Given the description of an element on the screen output the (x, y) to click on. 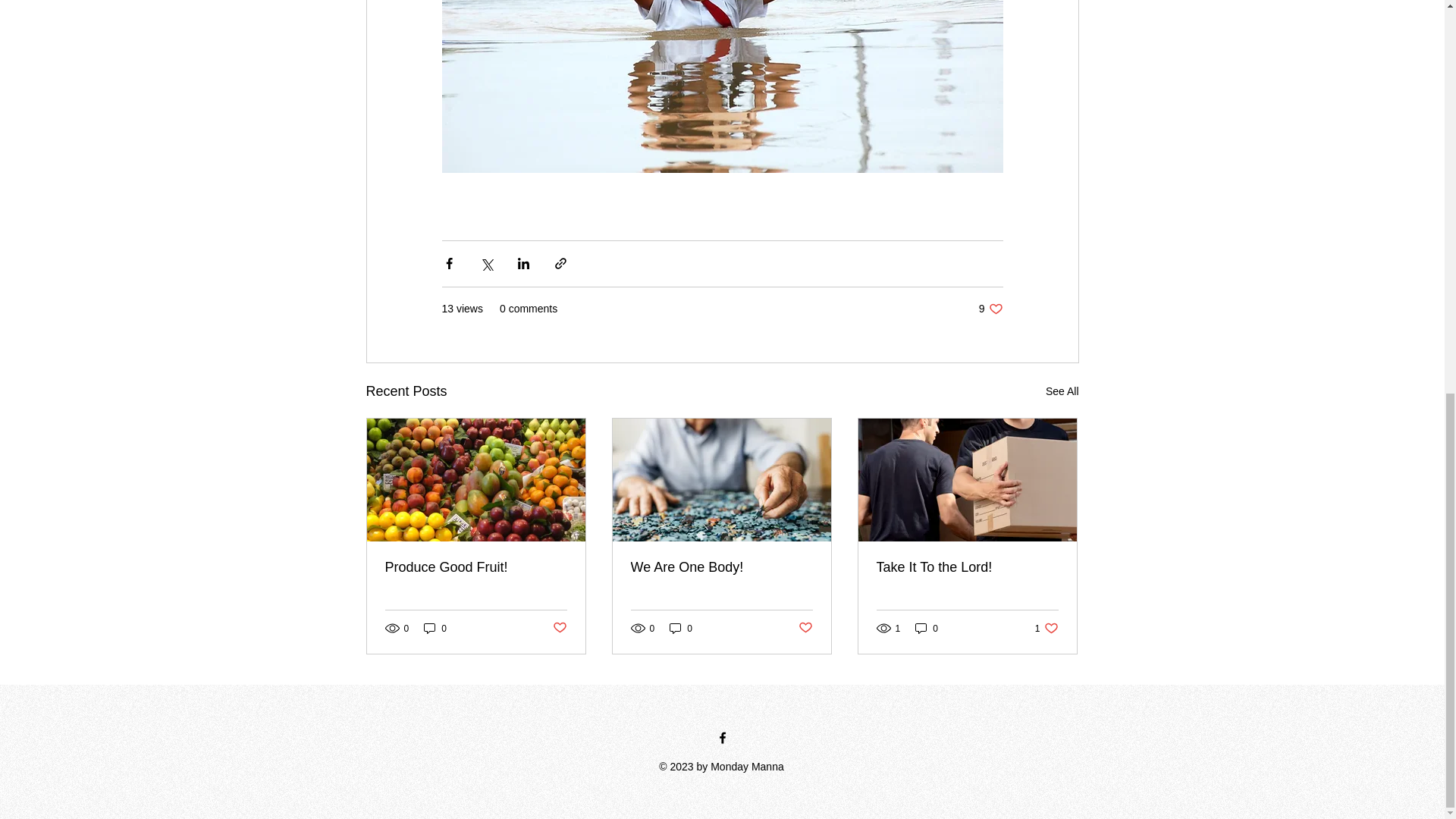
Post not marked as liked (558, 627)
We Are One Body! (721, 567)
Post not marked as liked (804, 627)
0 (681, 627)
0 (1046, 627)
Take It To the Lord! (926, 627)
0 (967, 567)
See All (435, 627)
Produce Good Fruit! (1061, 391)
